Given the description of an element on the screen output the (x, y) to click on. 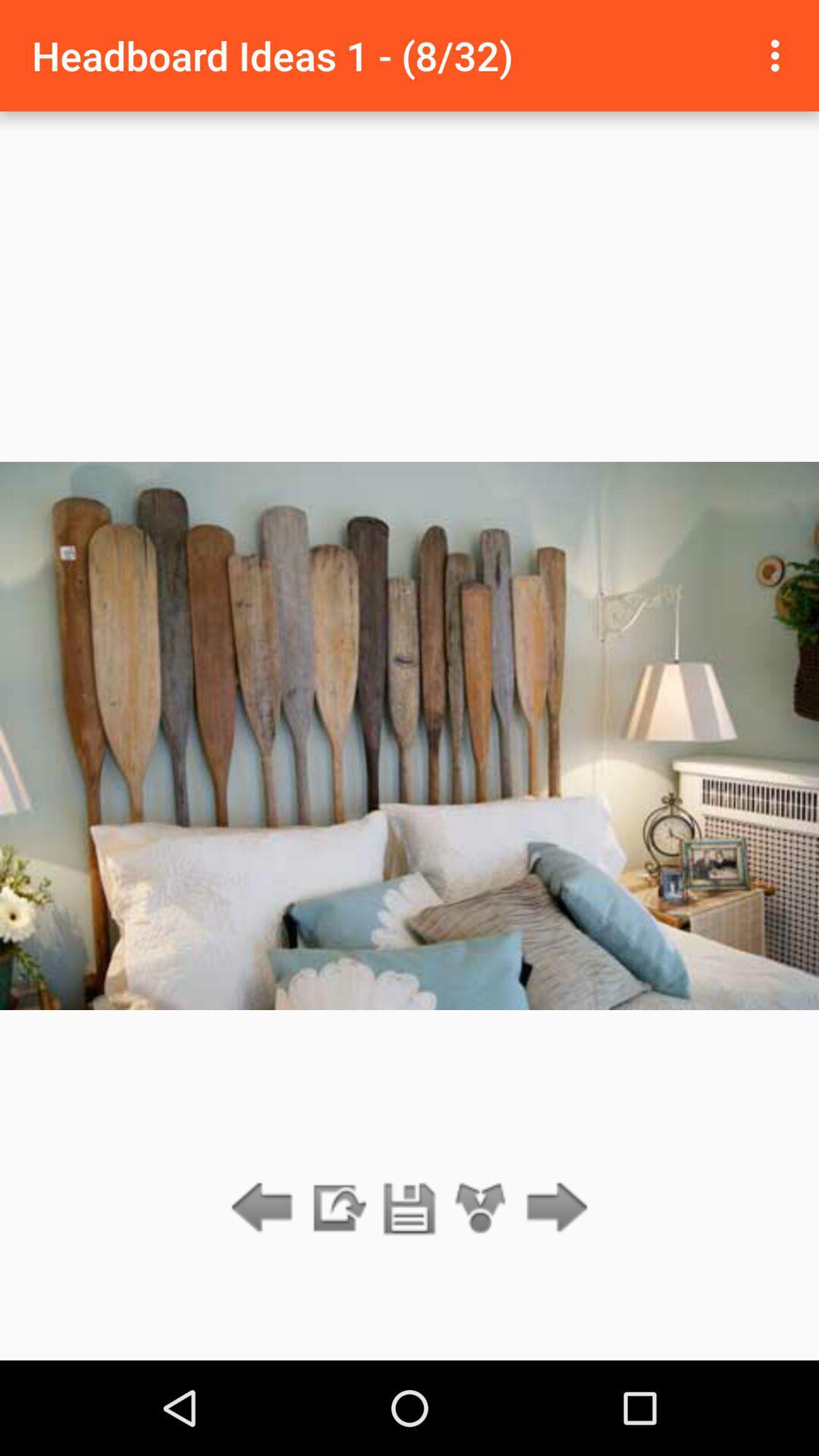
turn off the item next to the headboard ideas 1 (779, 55)
